Given the description of an element on the screen output the (x, y) to click on. 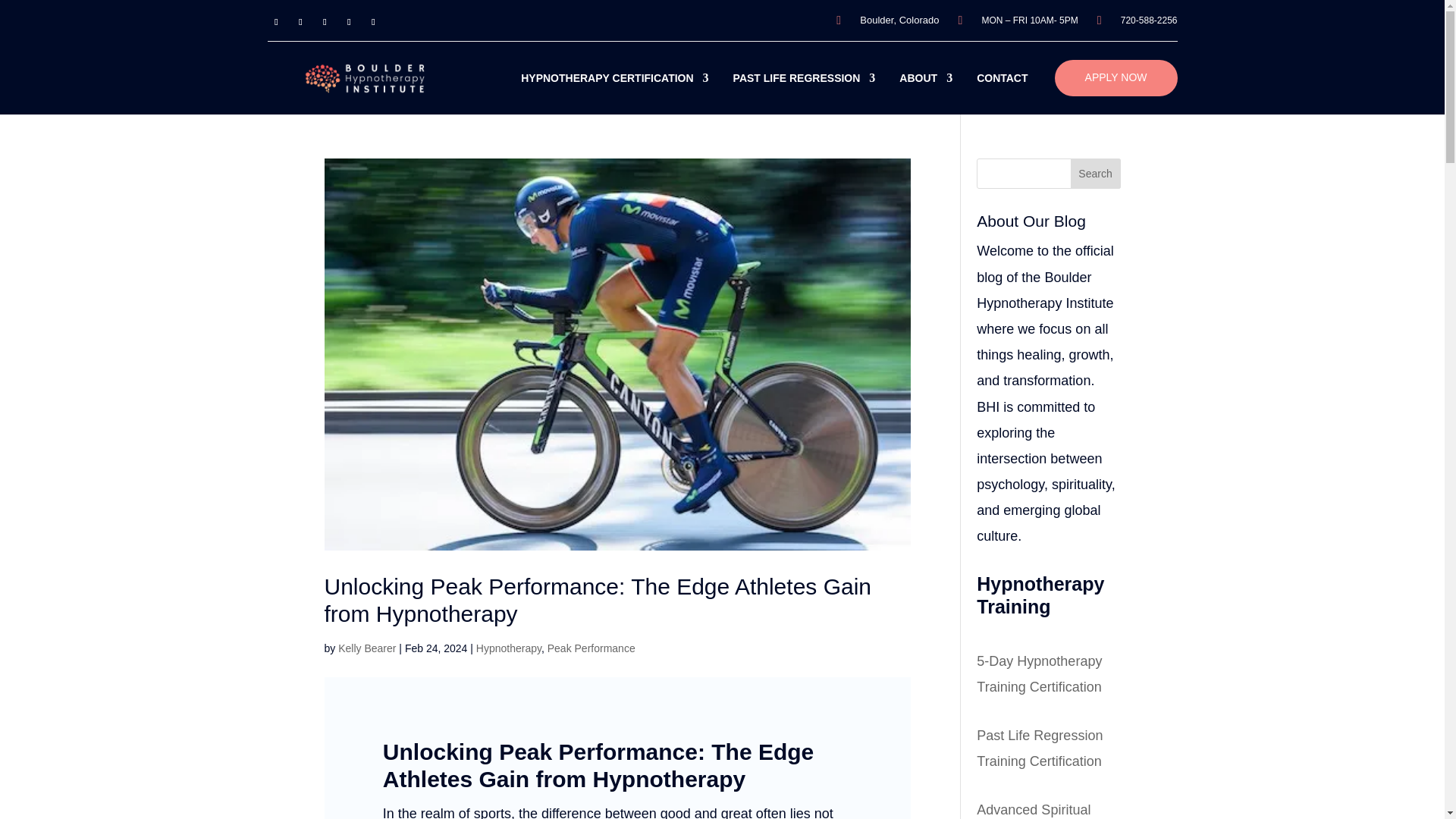
Follow on Youtube (372, 22)
Follow on Facebook (275, 22)
Posts by Kelly Bearer (366, 648)
APPLY NOW (1115, 77)
Follow on X (299, 22)
HYPNOTHERAPY CERTIFICATION (614, 78)
ABOUT (925, 78)
Search (1095, 173)
Kelly Bearer (366, 648)
Follow on RSS (324, 22)
PAST LIFE REGRESSION (804, 78)
Follow on LinkedIn (348, 22)
